Given the description of an element on the screen output the (x, y) to click on. 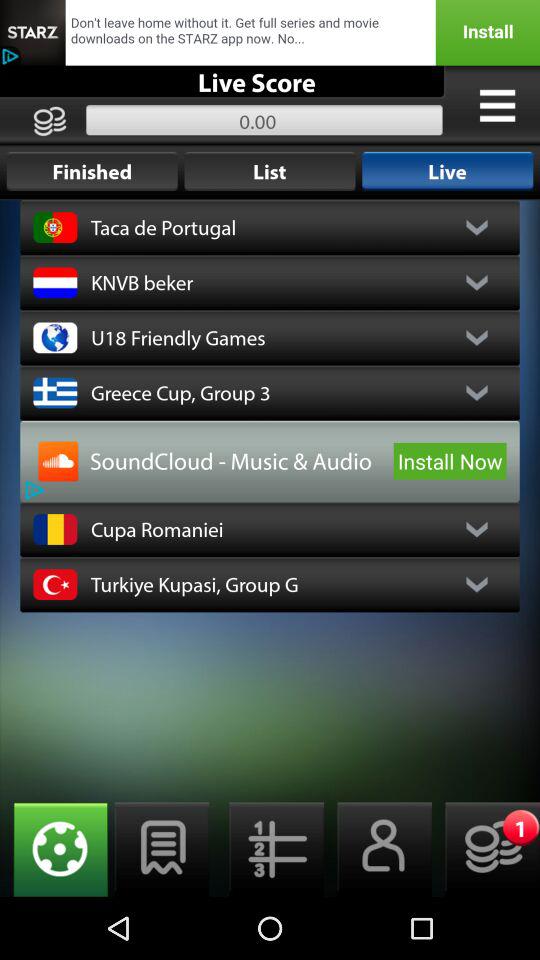
go to customize (497, 105)
